Given the description of an element on the screen output the (x, y) to click on. 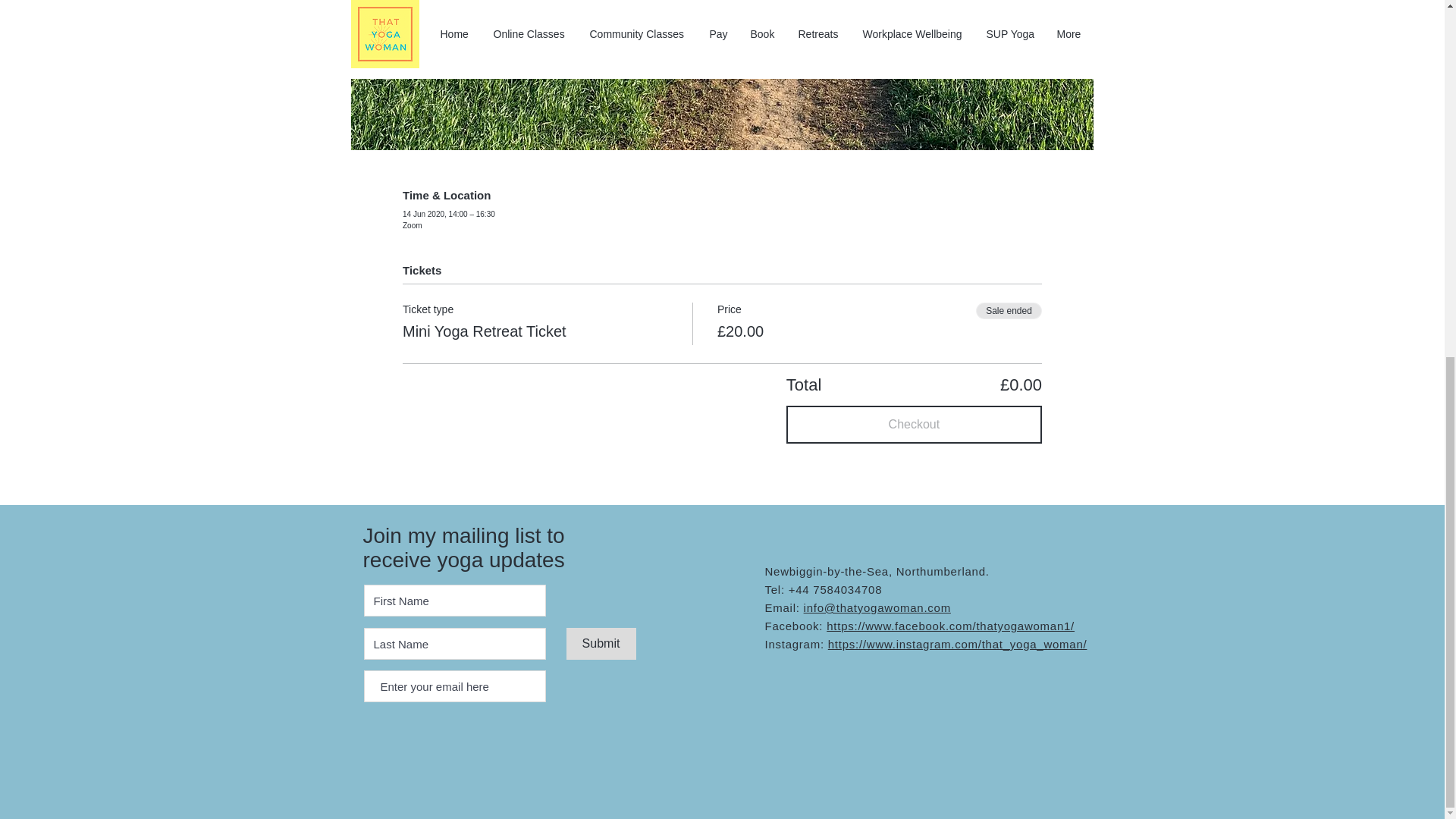
Submit (600, 644)
Checkout (914, 424)
